Given the description of an element on the screen output the (x, y) to click on. 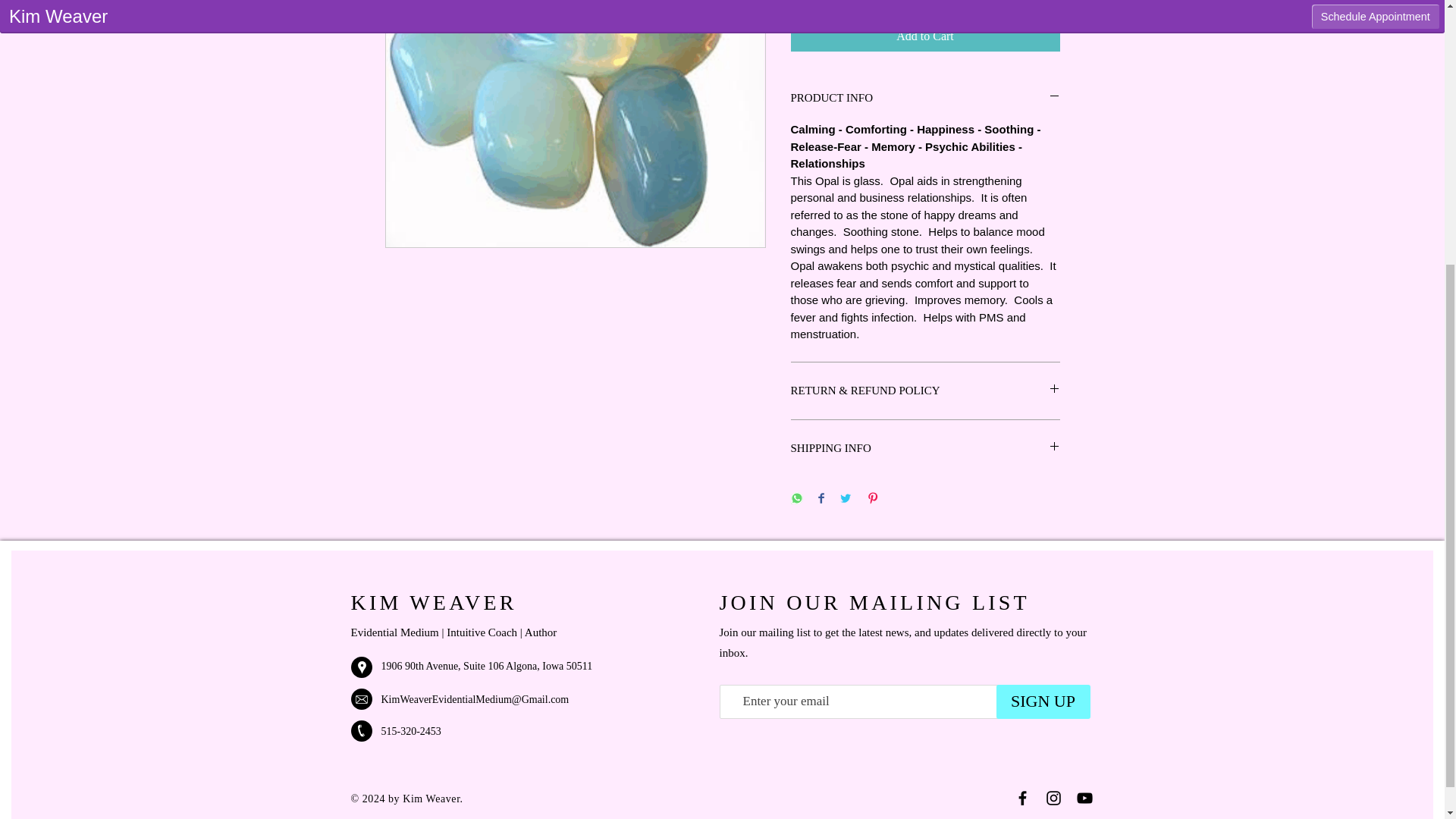
SHIPPING INFO (924, 448)
Add to Cart (924, 36)
PRODUCT INFO (924, 97)
515-320-2453 (410, 731)
SIGN UP (1042, 701)
